Given the description of an element on the screen output the (x, y) to click on. 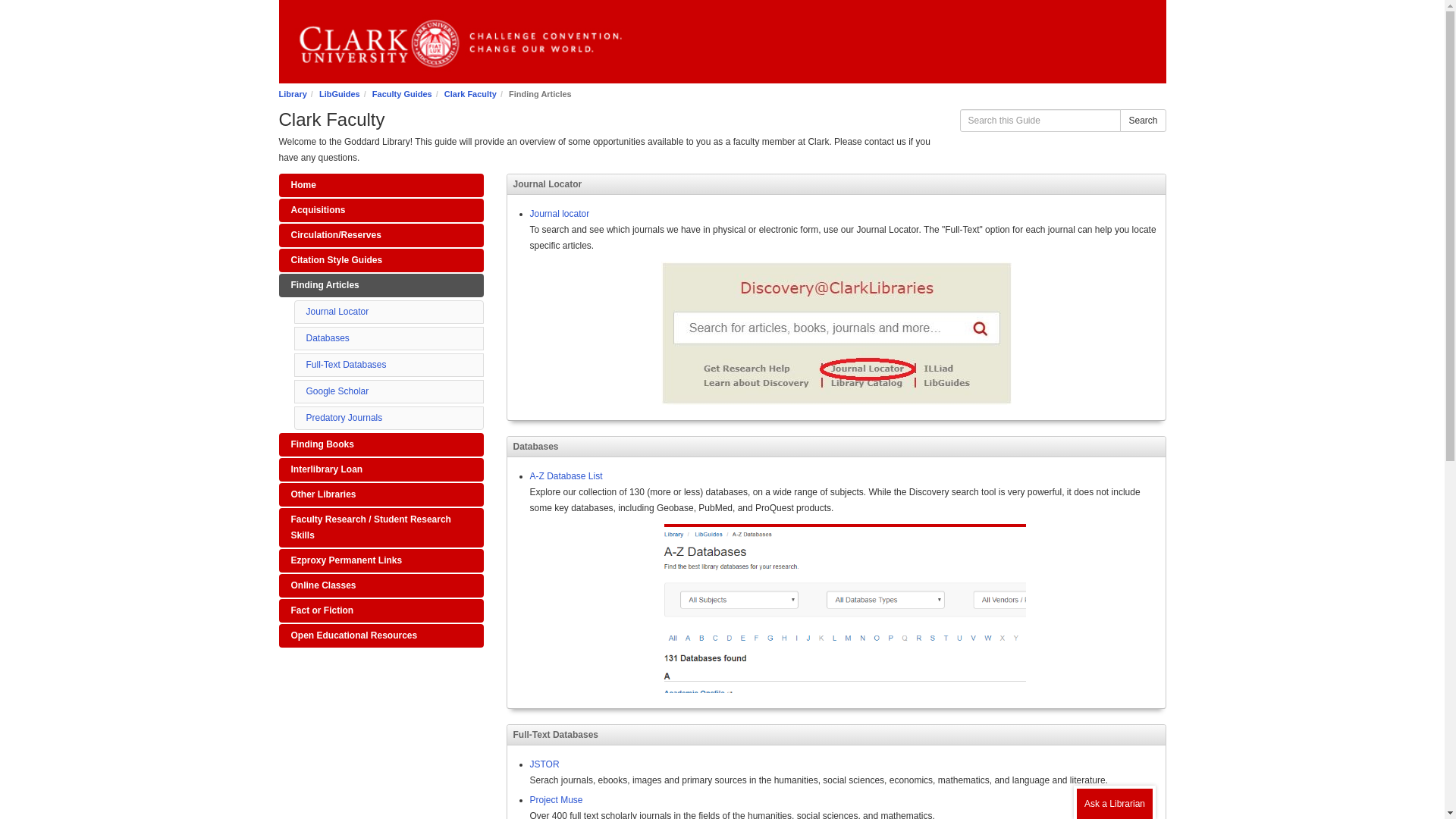
Library (293, 93)
Citation Style Guides (381, 259)
Journal Locator (337, 311)
Home (381, 185)
Ezproxy Permanent Links (381, 560)
Finding Books (381, 444)
Google Scholar (337, 390)
Acquisitions (381, 210)
A-Z Database List (565, 475)
Journal locator (559, 213)
Predatory Journals (343, 417)
LibGuides (338, 93)
Other Libraries (381, 494)
Clark Faculty (470, 93)
JSTOR (544, 764)
